Given the description of an element on the screen output the (x, y) to click on. 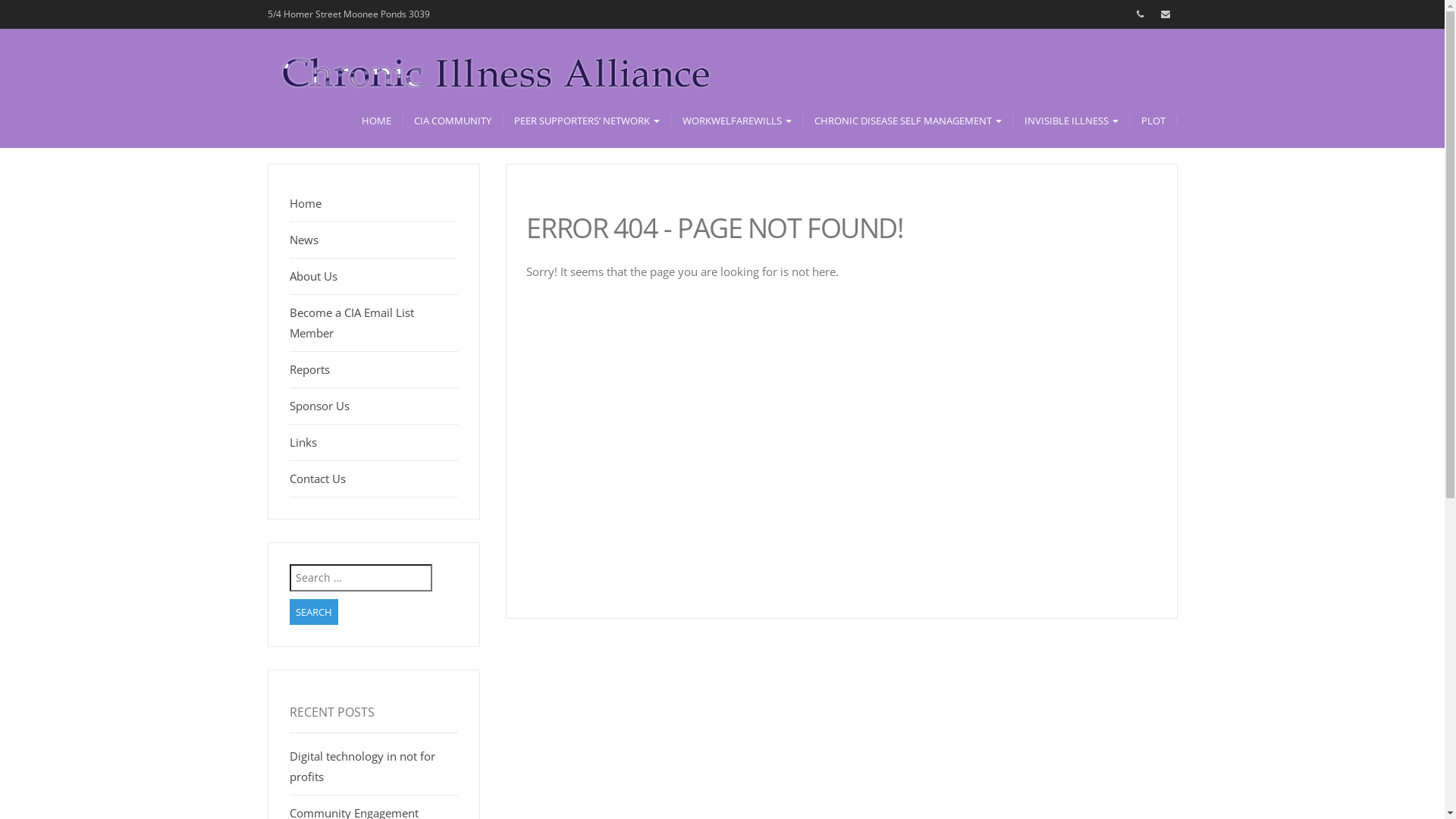
HOME Element type: text (376, 120)
Become a CIA Email List Member Element type: text (351, 322)
News Element type: text (303, 239)
INVISIBLE ILLNESS Element type: text (1071, 120)
Sponsor Us Element type: text (319, 405)
CHRONIC DISEASE SELF MANAGEMENT Element type: text (907, 120)
WORKWELFAREWILLS Element type: text (736, 120)
Digital technology in not for profits Element type: text (362, 766)
Reports Element type: text (309, 368)
CIA COMMUNITY Element type: text (451, 120)
Home Element type: text (305, 202)
Links Element type: text (302, 441)
About Us Element type: text (313, 275)
PLOT Element type: text (1152, 120)
Contact Us Element type: text (317, 478)
Search Element type: text (313, 612)
